Given the description of an element on the screen output the (x, y) to click on. 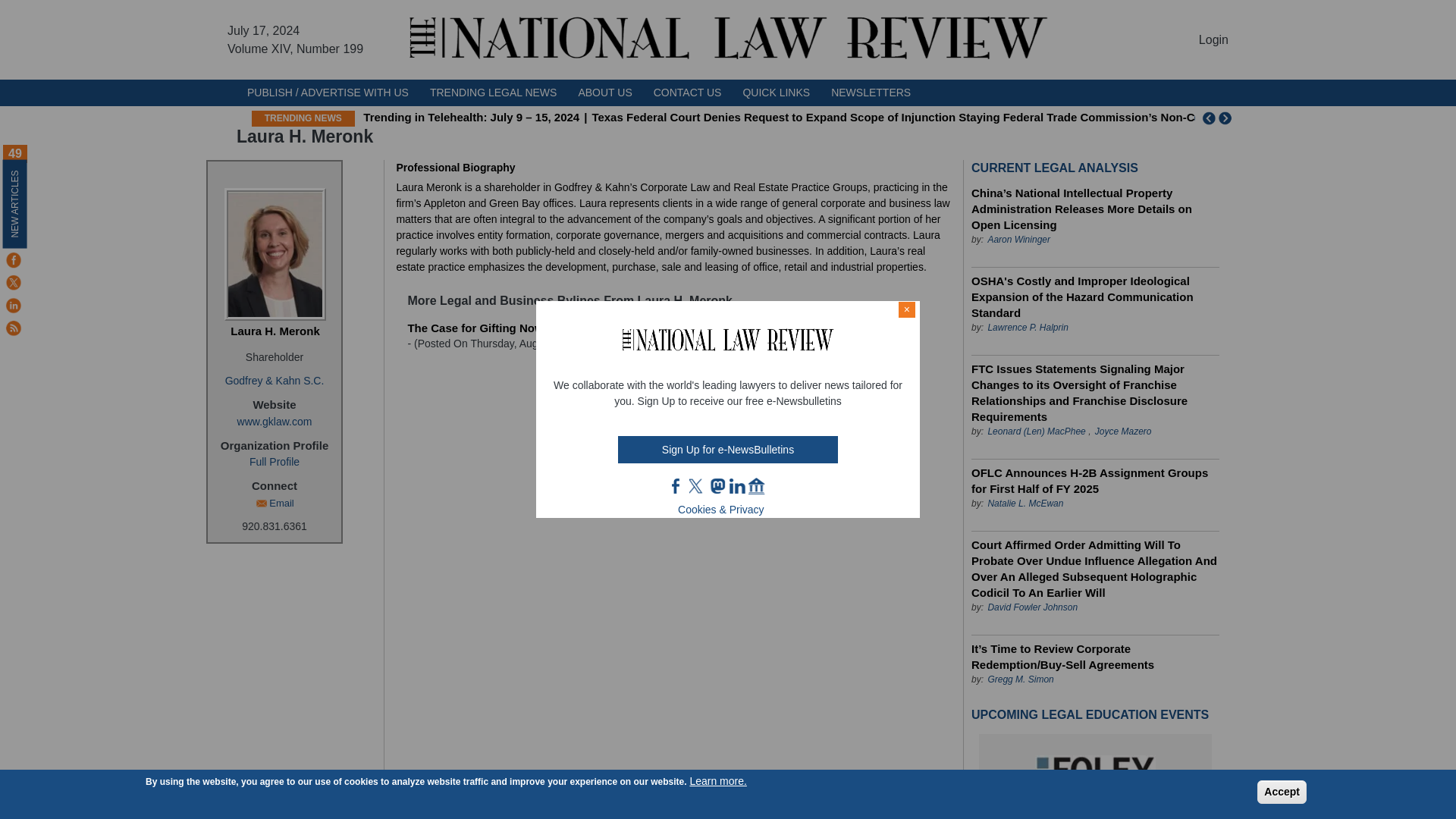
Login (1213, 39)
Home (727, 39)
